Given the description of an element on the screen output the (x, y) to click on. 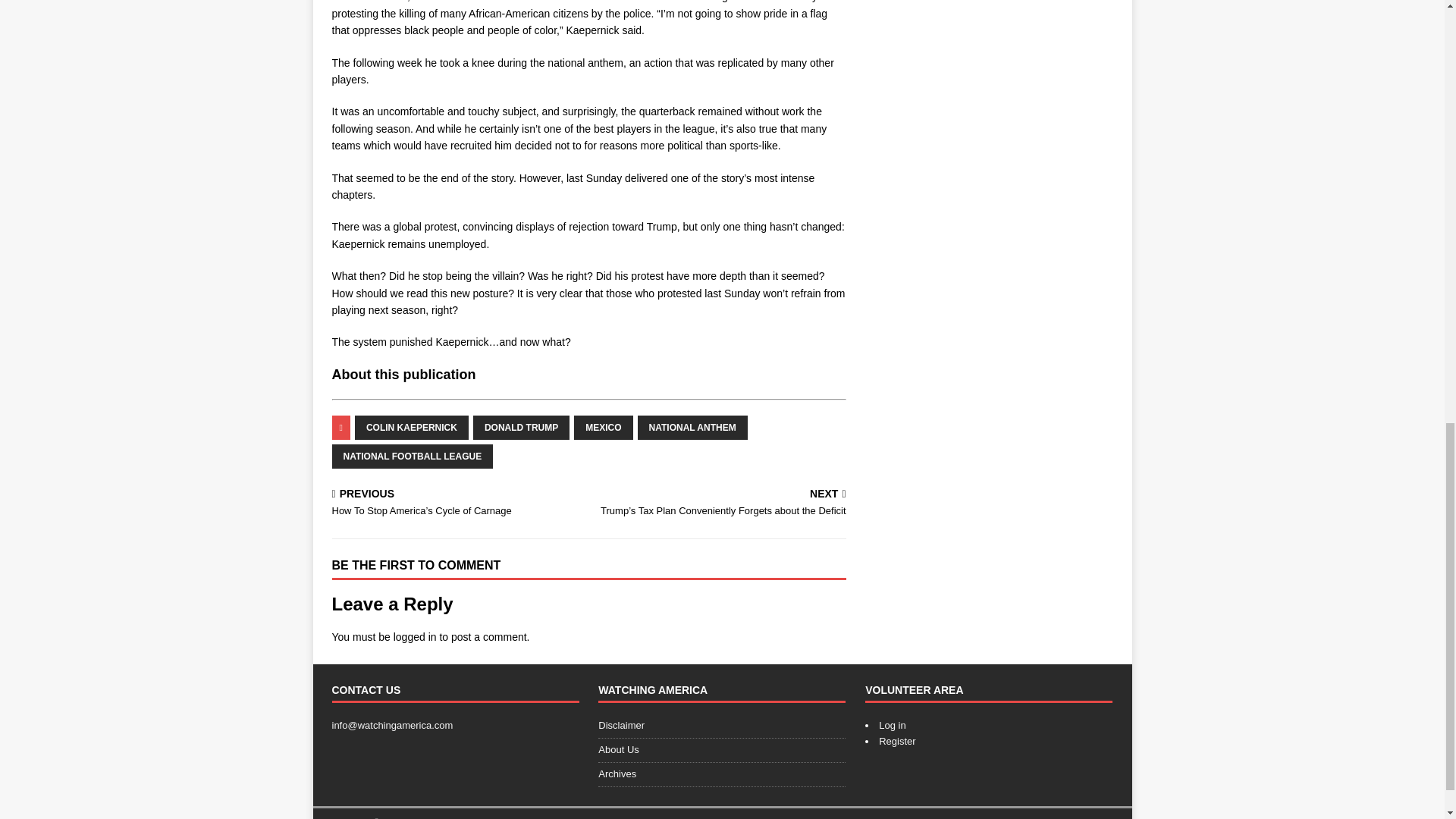
COLIN KAEPERNICK (411, 427)
NATIONAL ANTHEM (692, 427)
DONALD TRUMP (521, 427)
MEXICO (602, 427)
NATIONAL FOOTBALL LEAGUE (412, 456)
logged in (414, 636)
